Given the description of an element on the screen output the (x, y) to click on. 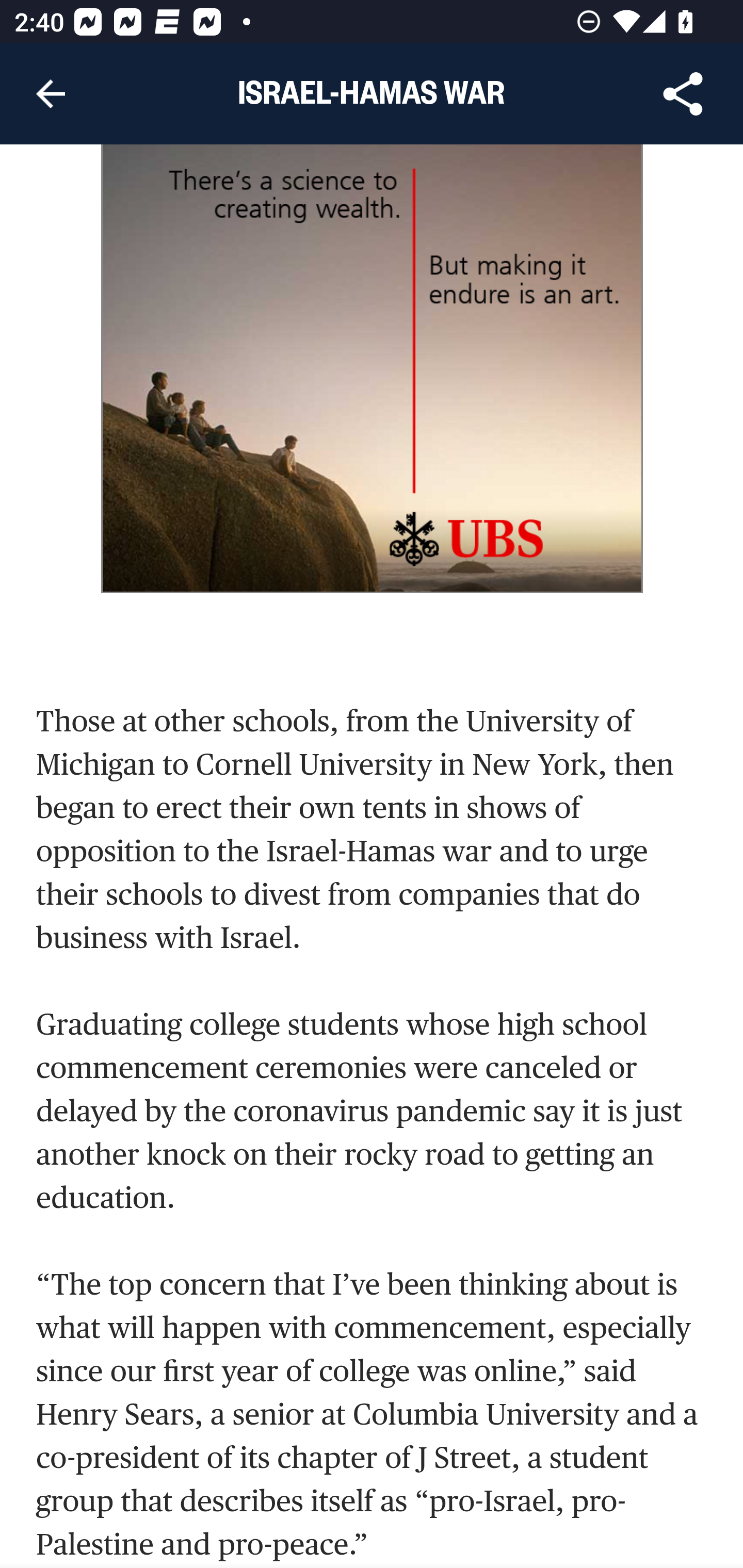
Navigate up (50, 93)
Share Article, button (683, 94)
